Given the description of an element on the screen output the (x, y) to click on. 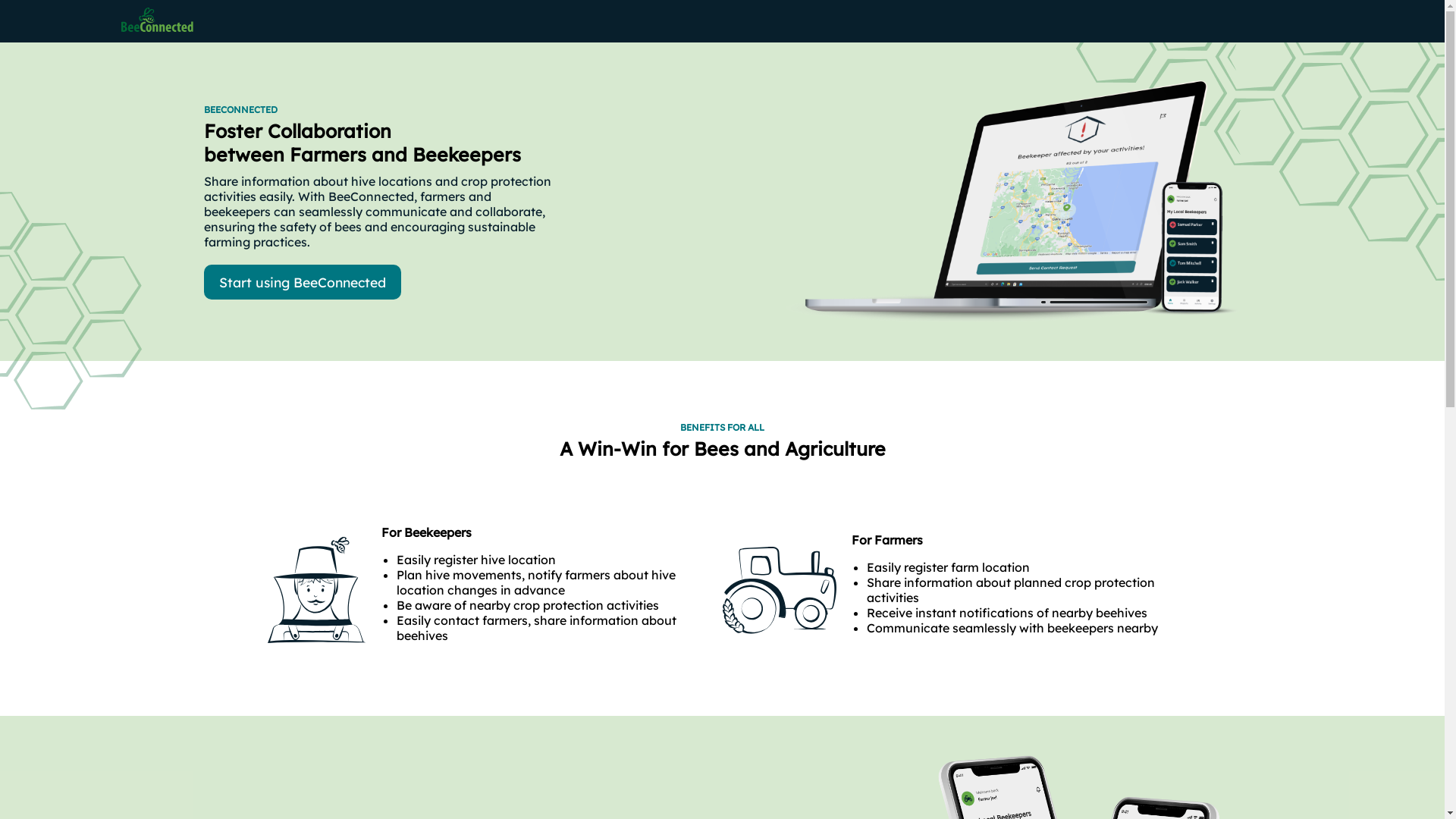
Start using BeeConnected Element type: text (301, 281)
